Given the description of an element on the screen output the (x, y) to click on. 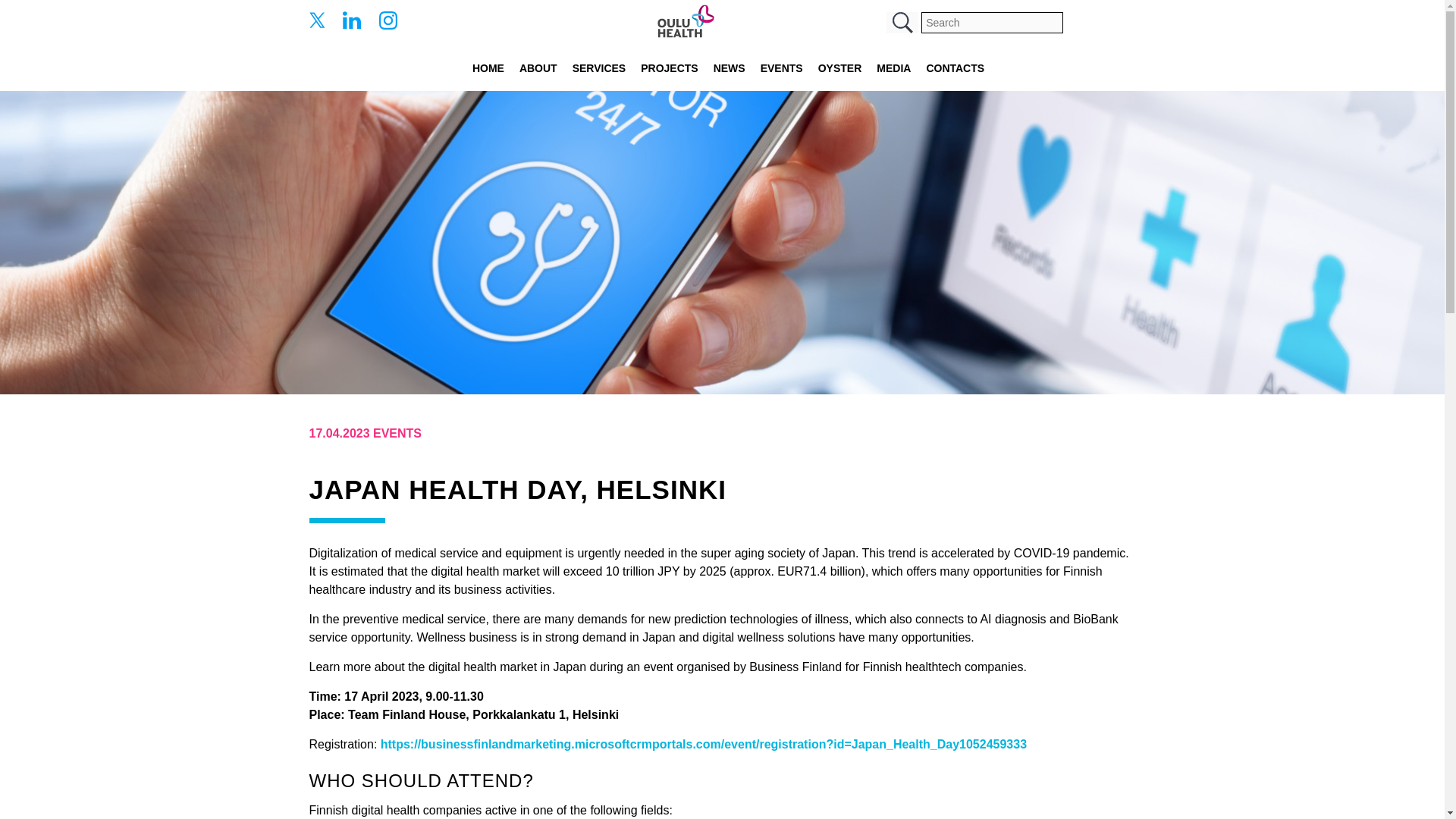
HOME (488, 67)
PROJECTS (668, 67)
Search (902, 22)
OuluHealth (685, 22)
ABOUT (538, 67)
OYSTER (839, 67)
SERVICES (598, 67)
NEWS (729, 67)
Search (902, 22)
Search (902, 22)
